Given the description of an element on the screen output the (x, y) to click on. 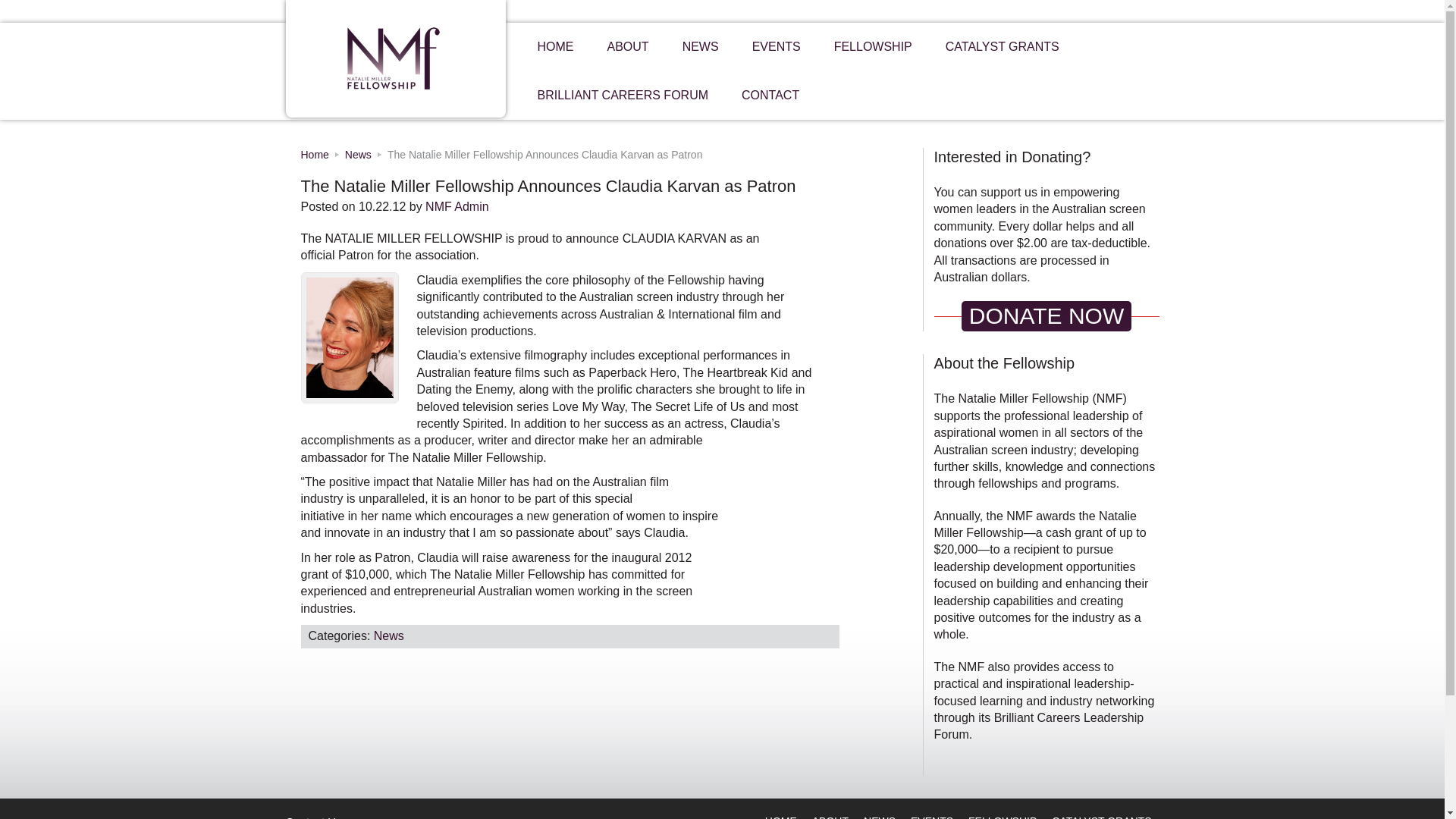
News (358, 154)
ABOUT (830, 816)
NMF Admin (457, 205)
EVENTS (775, 46)
CONTACT (770, 95)
HOME (554, 46)
News (389, 635)
FELLOWSHIP (872, 46)
HOME (781, 816)
DONATE NOW (1045, 316)
Contact Us (312, 816)
NEWS (700, 46)
Home (314, 154)
Natalie Miller Fellowship (416, 58)
BRILLIANT CAREERS FORUM (622, 95)
